Given the description of an element on the screen output the (x, y) to click on. 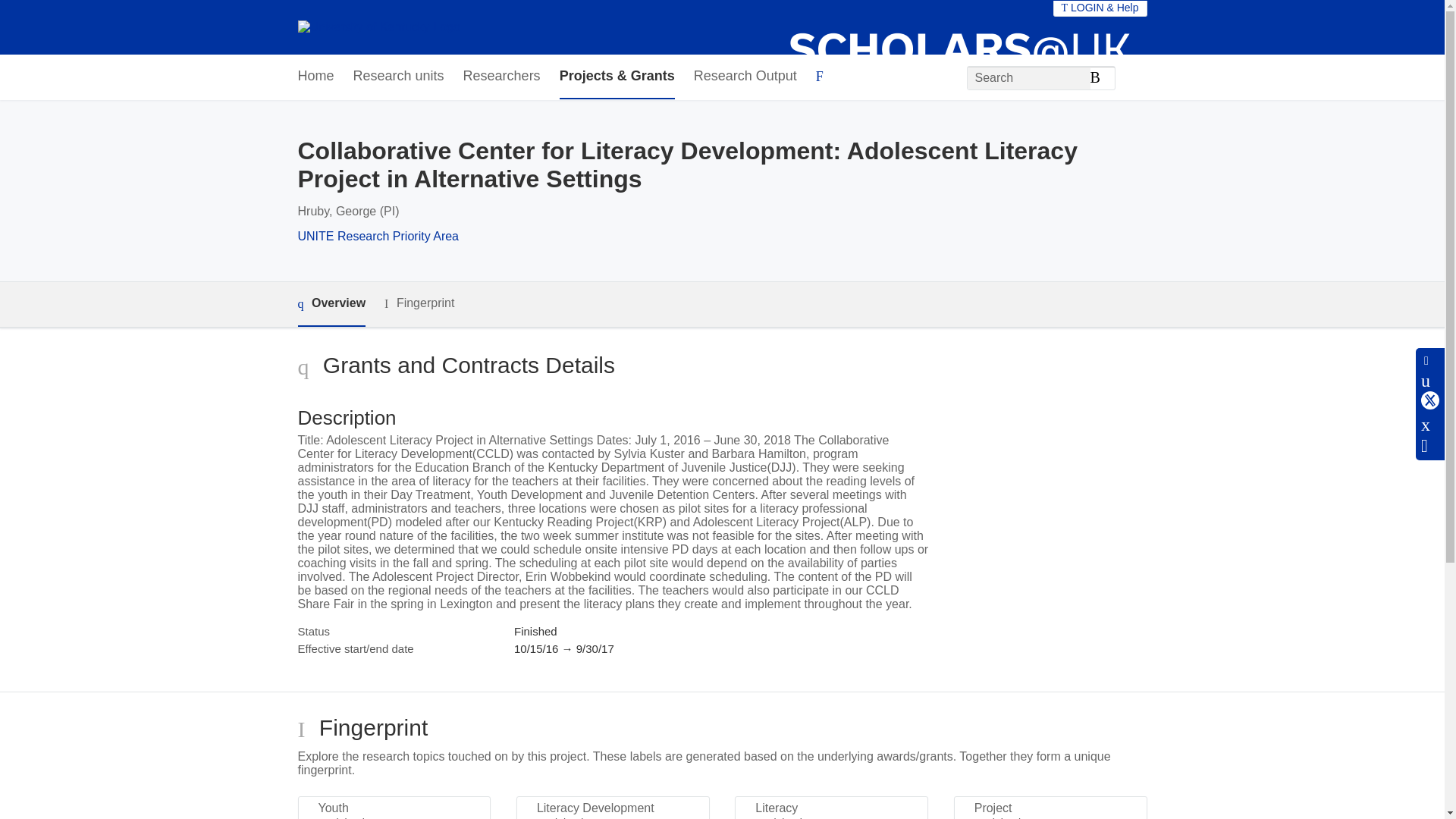
Research units (398, 76)
Overview (331, 303)
UNITE Research Priority Area (377, 236)
Fingerprint (419, 303)
University of Kentucky Home (378, 27)
Researchers (501, 76)
Research Output (745, 76)
